Given the description of an element on the screen output the (x, y) to click on. 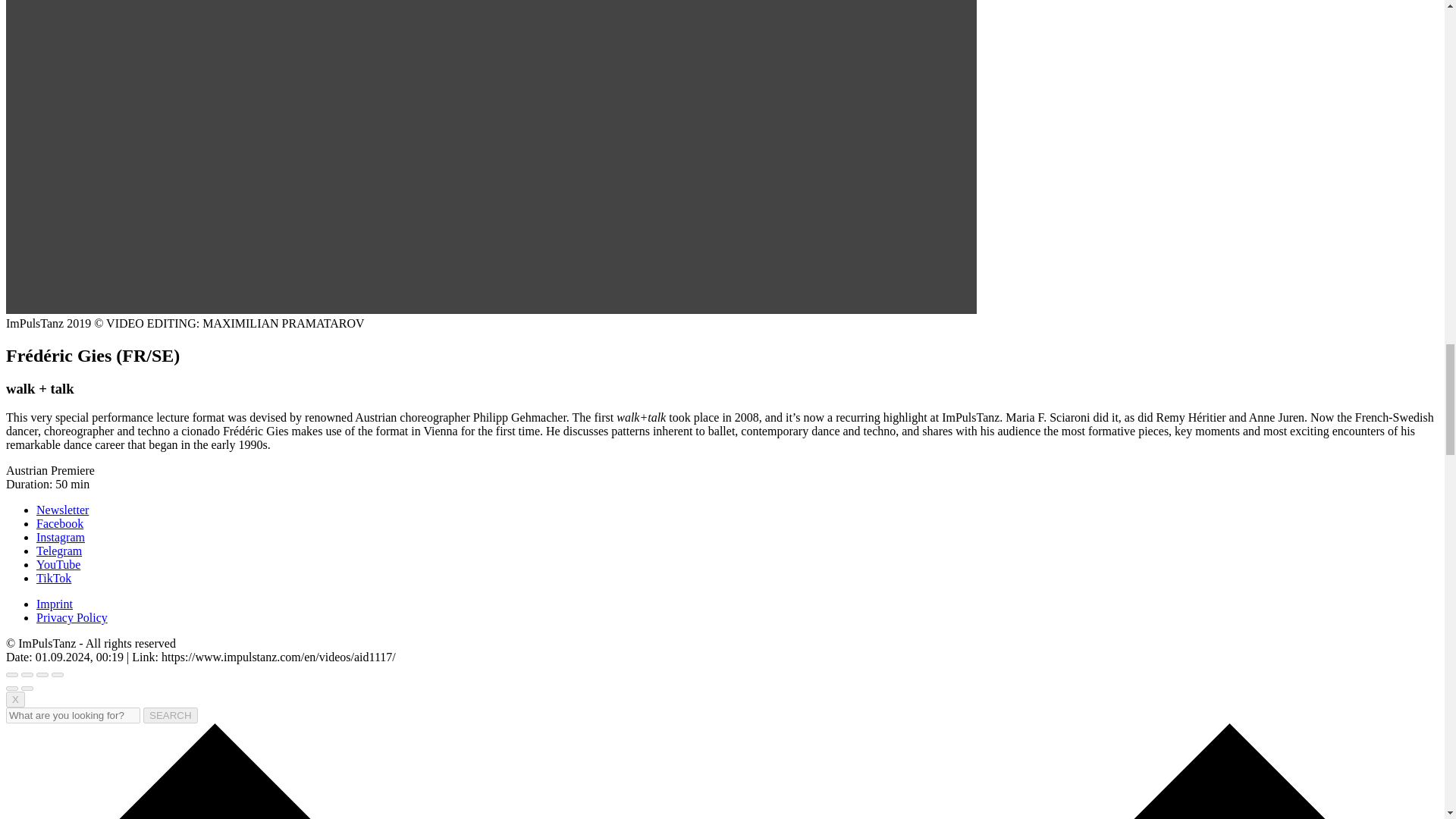
SEARCH (170, 715)
Toggle fullscreen (42, 674)
Share (27, 674)
